Given the description of an element on the screen output the (x, y) to click on. 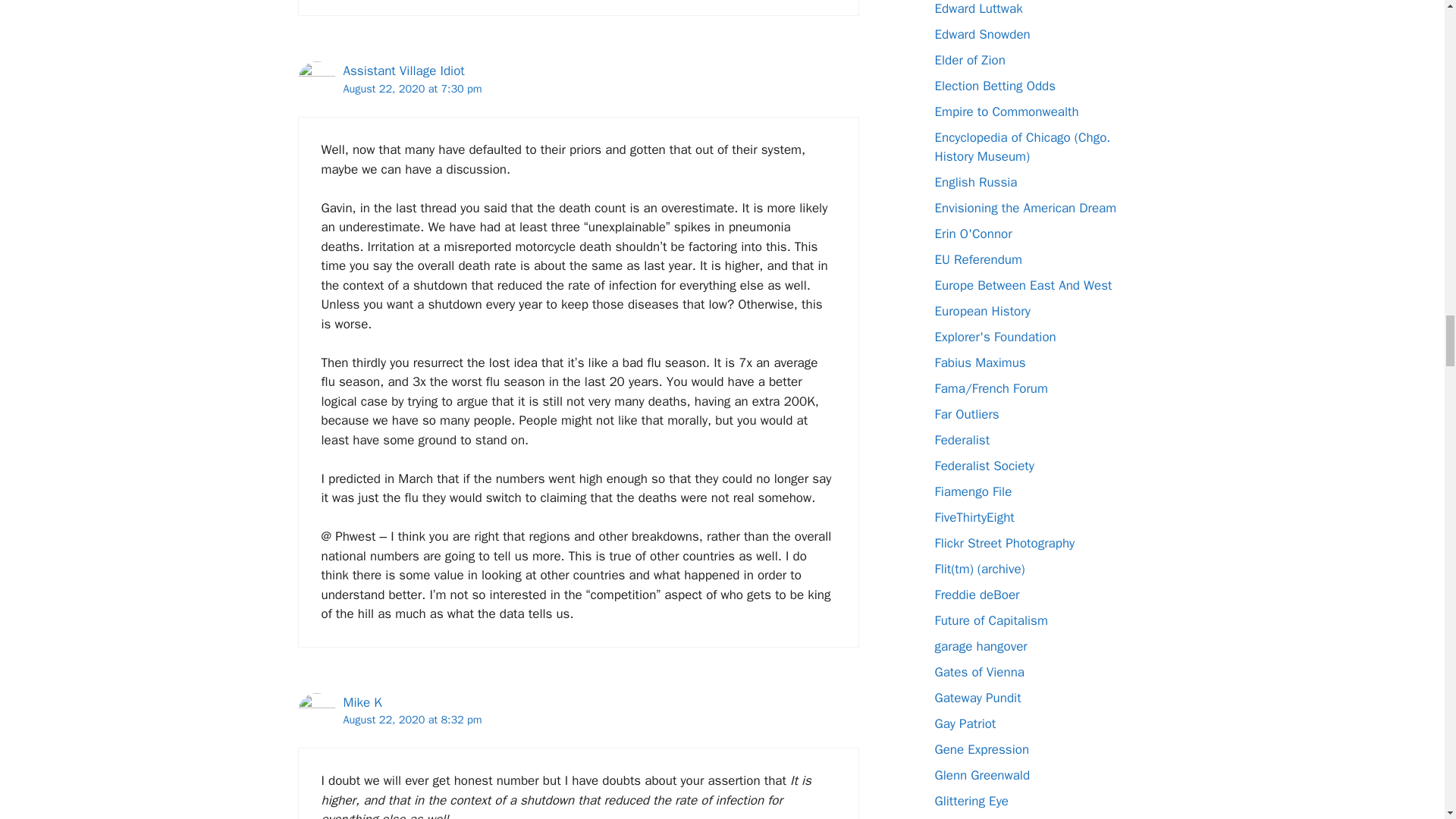
August 22, 2020 at 8:32 pm (411, 719)
Mike K (361, 702)
Assistant Village Idiot (403, 70)
August 22, 2020 at 7:30 pm (411, 88)
